Given the description of an element on the screen output the (x, y) to click on. 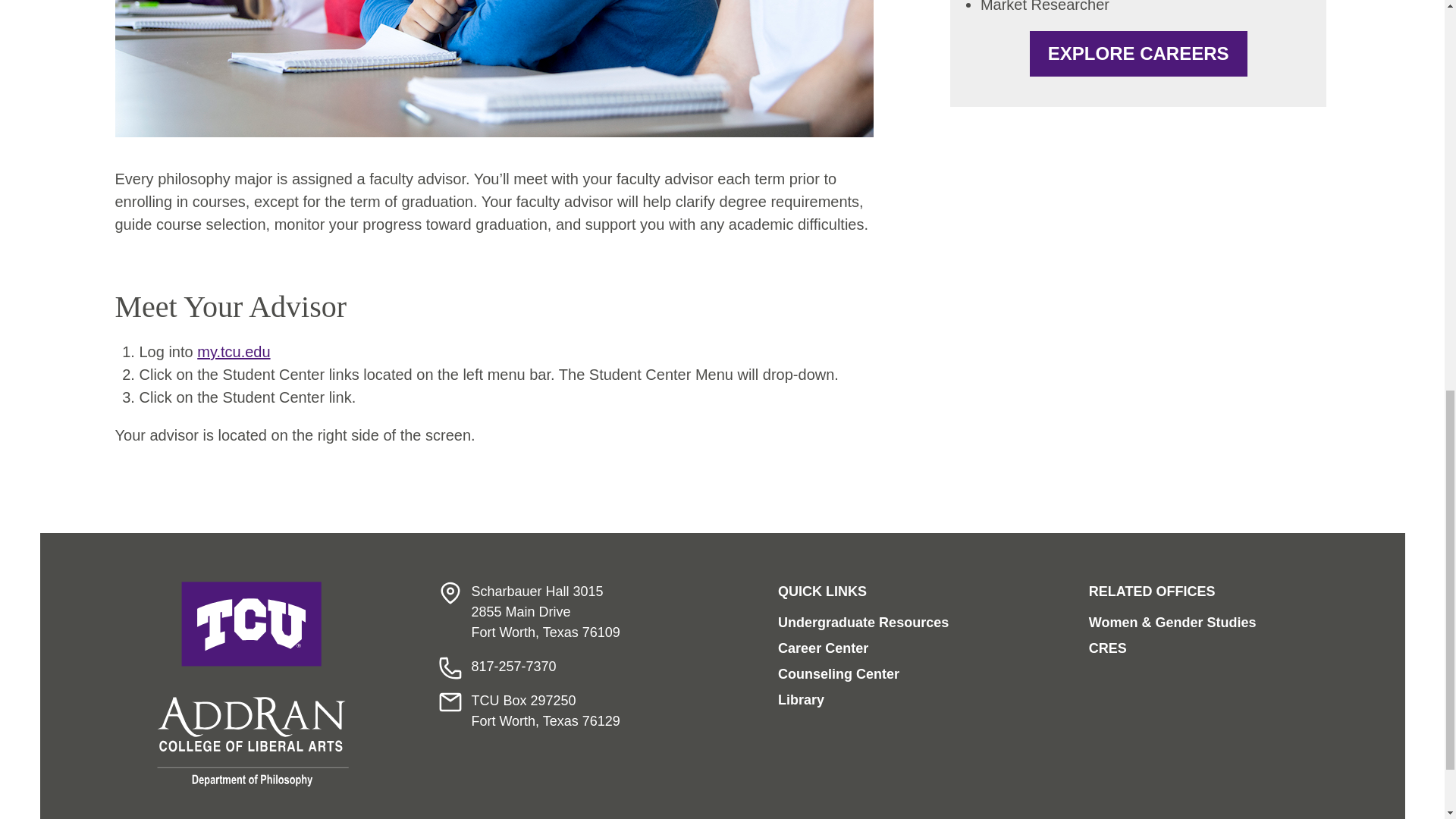
Library (800, 699)
EXPLORE CAREERS (1138, 53)
my.tcu.edu (232, 351)
Career Center (822, 648)
Counseling Center (838, 673)
Undergraduate Resources (863, 622)
CRES (1107, 648)
AddRan Department of Philosophy Homepage (253, 684)
